Given the description of an element on the screen output the (x, y) to click on. 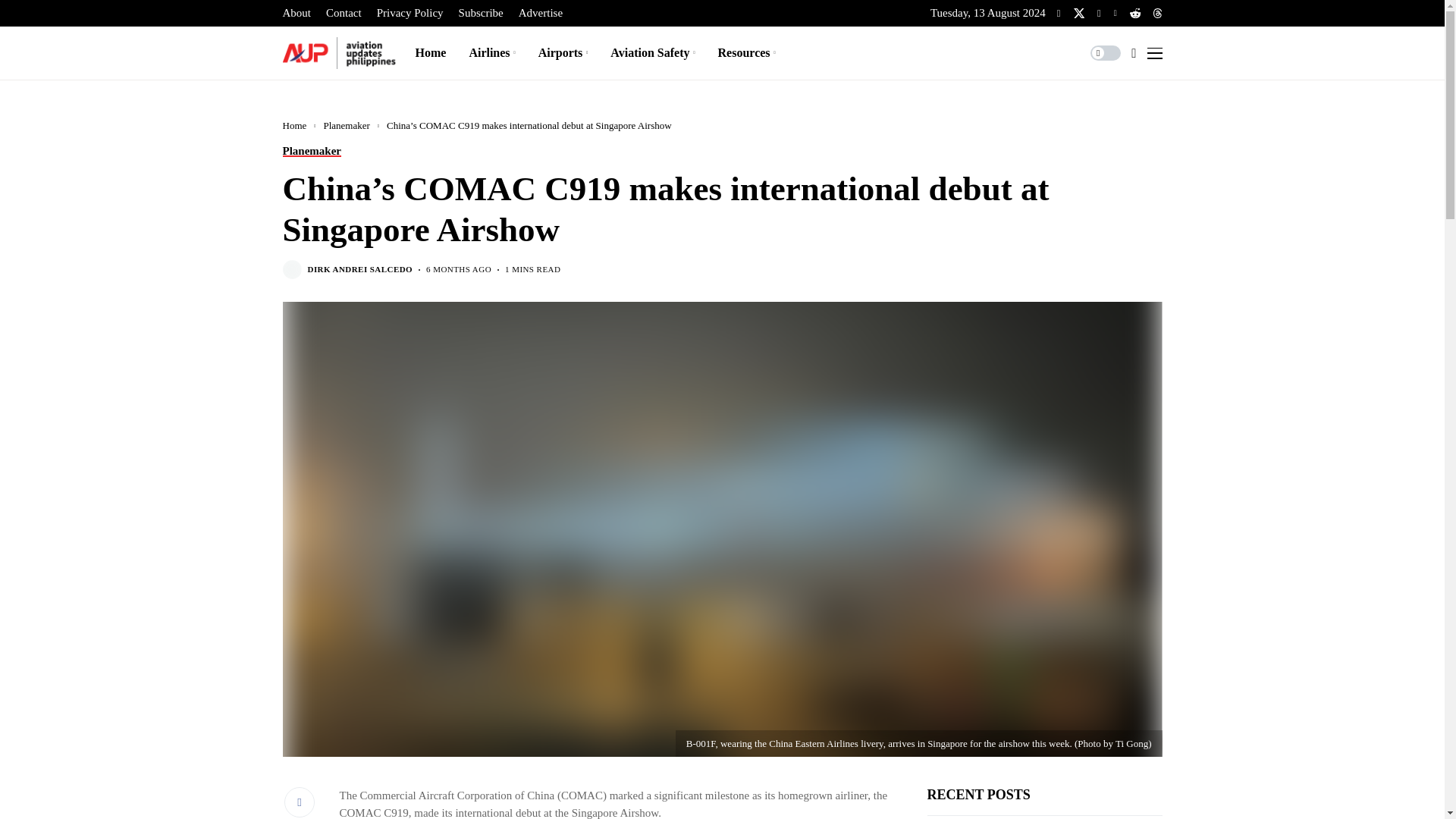
Posts by Dirk Andrei Salcedo (360, 269)
Subscribe (480, 13)
Airports (563, 52)
Privacy Policy (410, 13)
Contact (343, 13)
About (296, 13)
Aviation Safety (652, 52)
Advertise (540, 13)
